Given the description of an element on the screen output the (x, y) to click on. 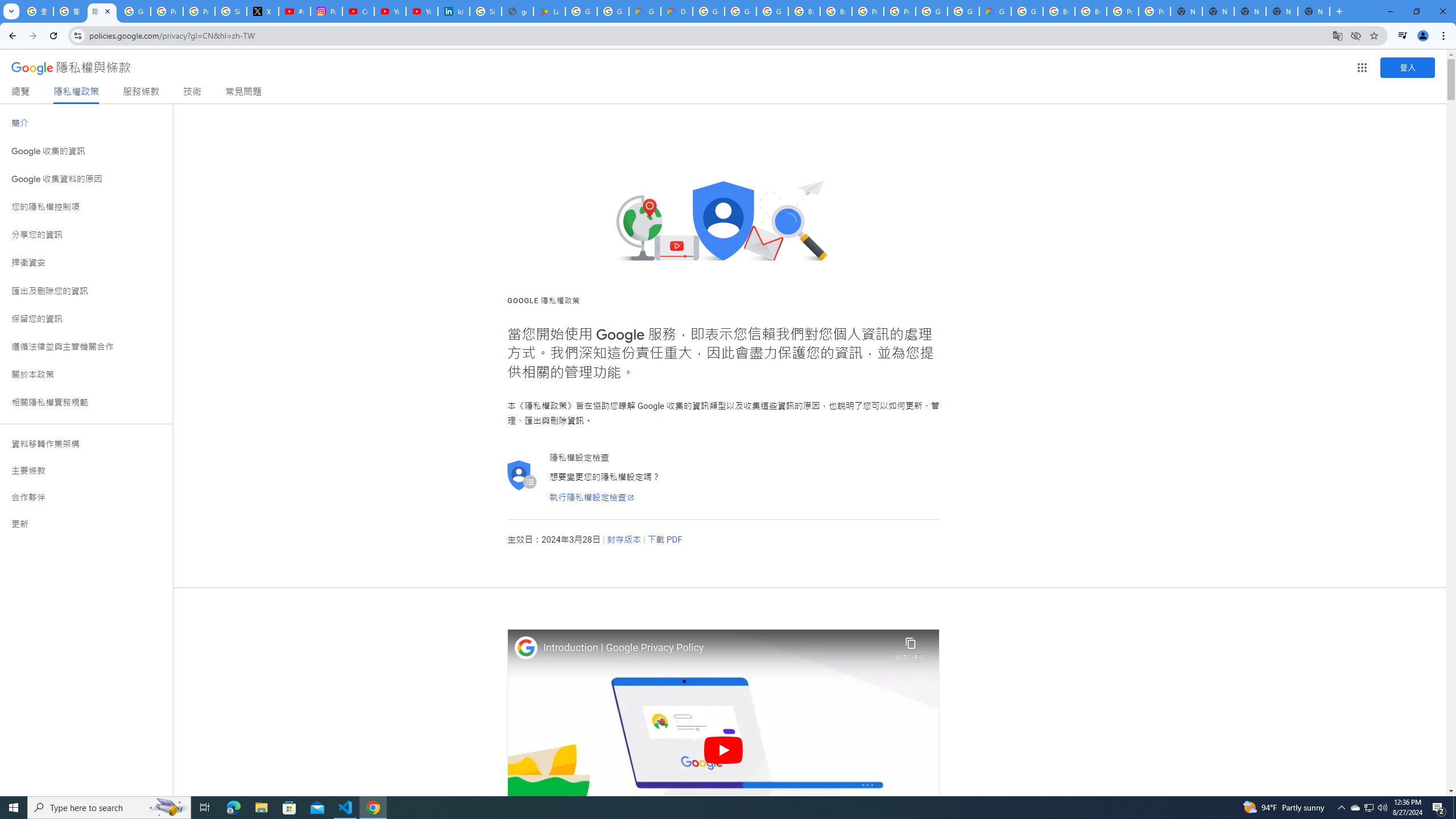
Google Cloud Platform (931, 11)
Government | Google Cloud (644, 11)
Google Cloud Platform (1027, 11)
Google Cloud Estimate Summary (995, 11)
Sign in - Google Accounts (230, 11)
New Tab (1313, 11)
YouTube Culture & Trends - YouTube Top 10, 2021 (421, 11)
Google Cloud Platform (963, 11)
Google Workspace - Specific Terms (613, 11)
Google Cloud Platform (708, 11)
